Given the description of an element on the screen output the (x, y) to click on. 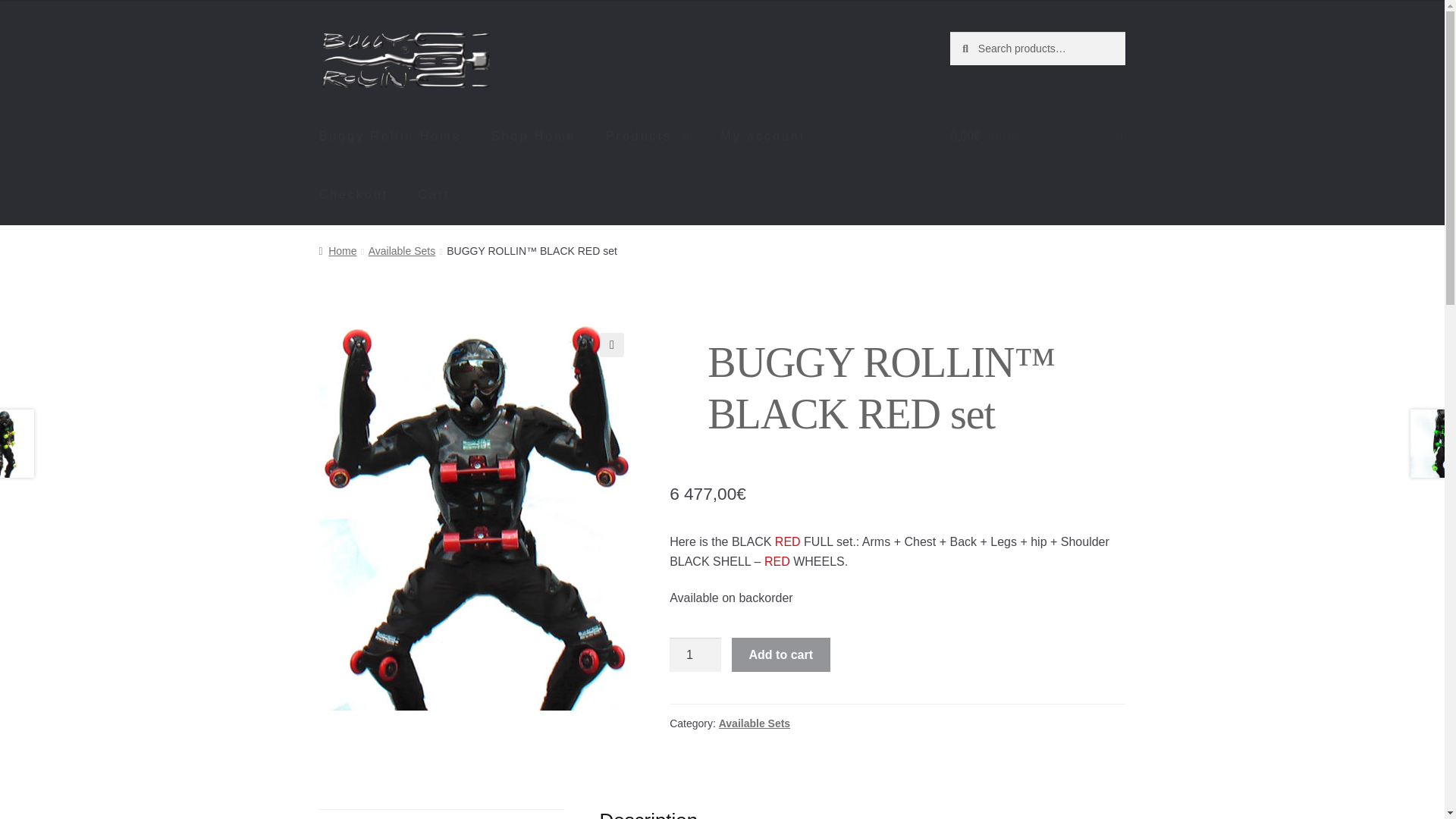
My account (761, 136)
Qty (694, 655)
Shop Home (533, 136)
Cart (434, 194)
Checkout (354, 194)
1 (694, 655)
Buggy Rollin Home (390, 136)
Products (648, 136)
View your shopping cart (1037, 136)
